Given the description of an element on the screen output the (x, y) to click on. 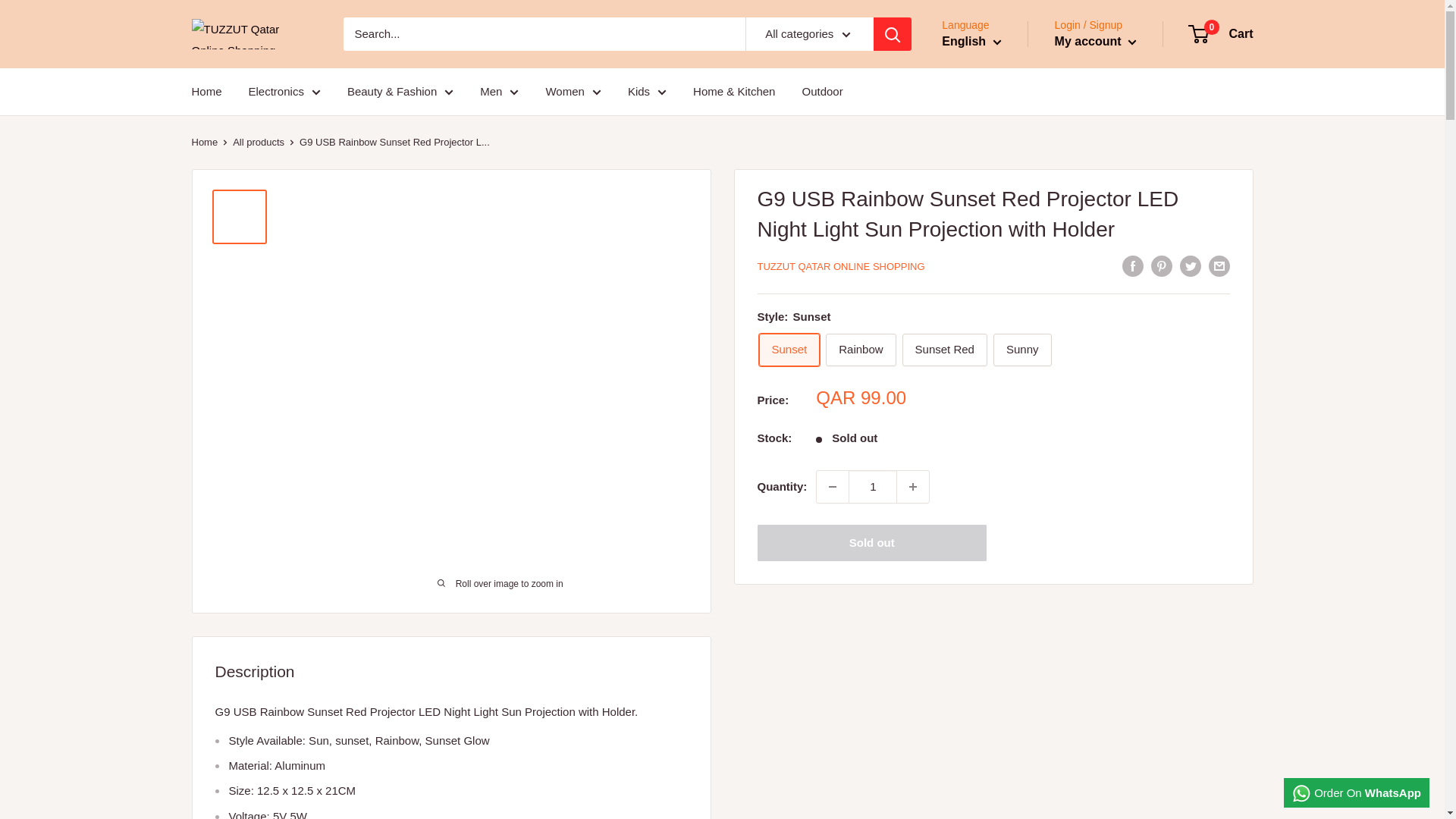
Increase quantity by 1 (912, 486)
Sunset (788, 349)
Decrease quantity by 1 (832, 486)
Rainbow (860, 349)
1 (872, 486)
Order On WhatsApp (1356, 792)
Sunset Red (944, 349)
Sunny (1021, 349)
